Given the description of an element on the screen output the (x, y) to click on. 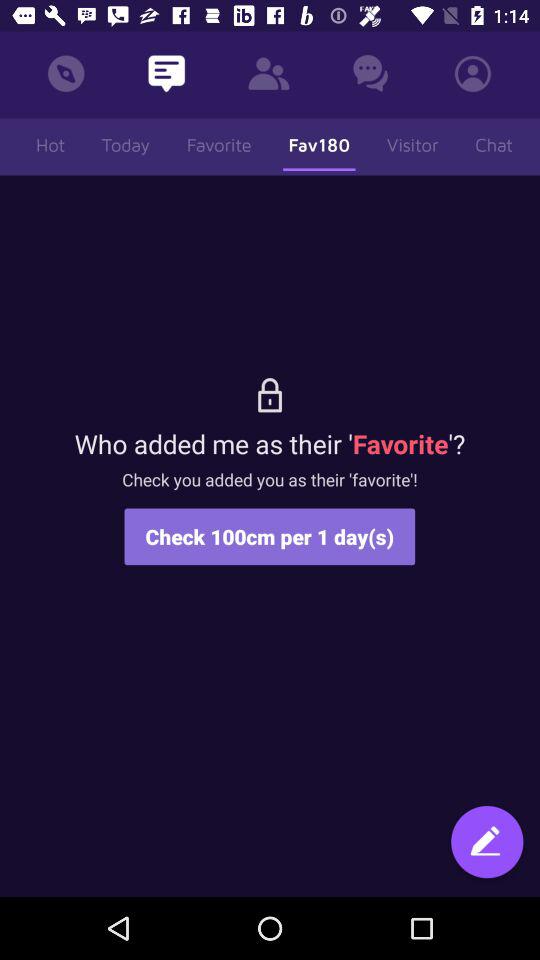
create a new message (487, 844)
